Given the description of an element on the screen output the (x, y) to click on. 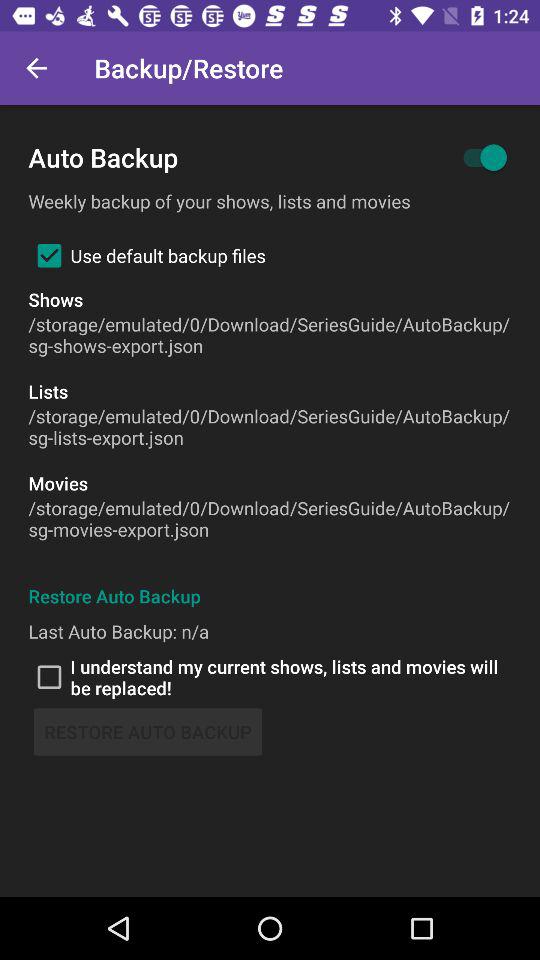
select the i understand my (269, 677)
